Given the description of an element on the screen output the (x, y) to click on. 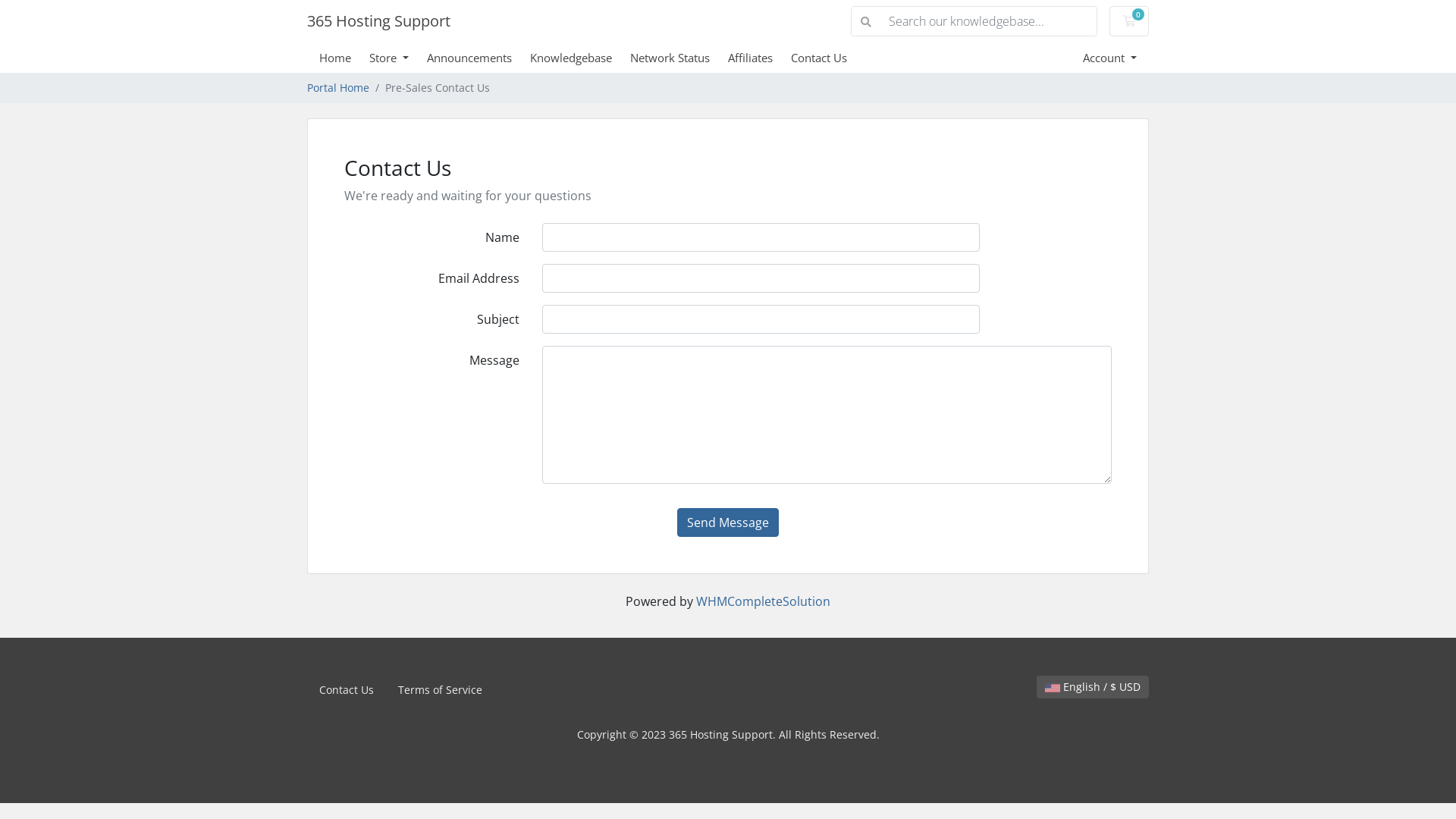
Portal Home Element type: text (338, 87)
WHMCompleteSolution Element type: text (763, 601)
Network Status Element type: text (679, 57)
Terms of Service Element type: text (439, 689)
Contact Us Element type: text (827, 57)
0
Shopping Cart Element type: text (1128, 21)
Affiliates Element type: text (759, 57)
365 Hosting Support Element type: text (378, 21)
Knowledgebase Element type: text (580, 57)
Send Message Element type: text (727, 522)
Announcements Element type: text (478, 57)
Contact Us Element type: text (346, 689)
Account Element type: text (1109, 57)
Home Element type: text (344, 57)
Store Element type: text (397, 57)
English / $ USD Element type: text (1092, 686)
